Given the description of an element on the screen output the (x, y) to click on. 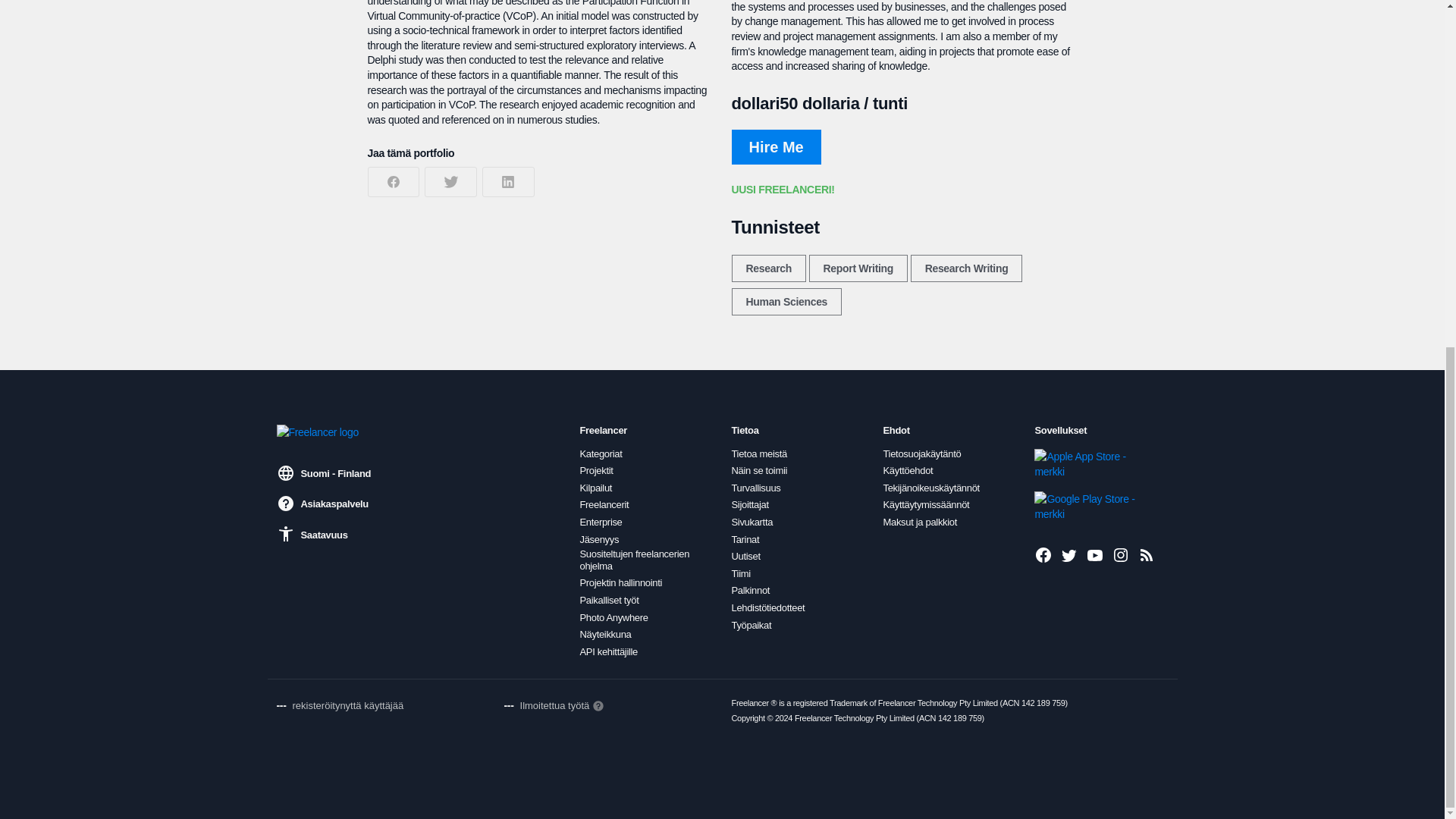
Report Writing (858, 267)
Enterprise (600, 522)
Uutiset (745, 556)
Human Sciences (785, 301)
Jaa Facebookissa (392, 182)
Freelancer Instagramissa (1120, 555)
Kategoriat (600, 453)
Turvallisuus (755, 488)
Tarinat (744, 539)
Research (767, 267)
